Given the description of an element on the screen output the (x, y) to click on. 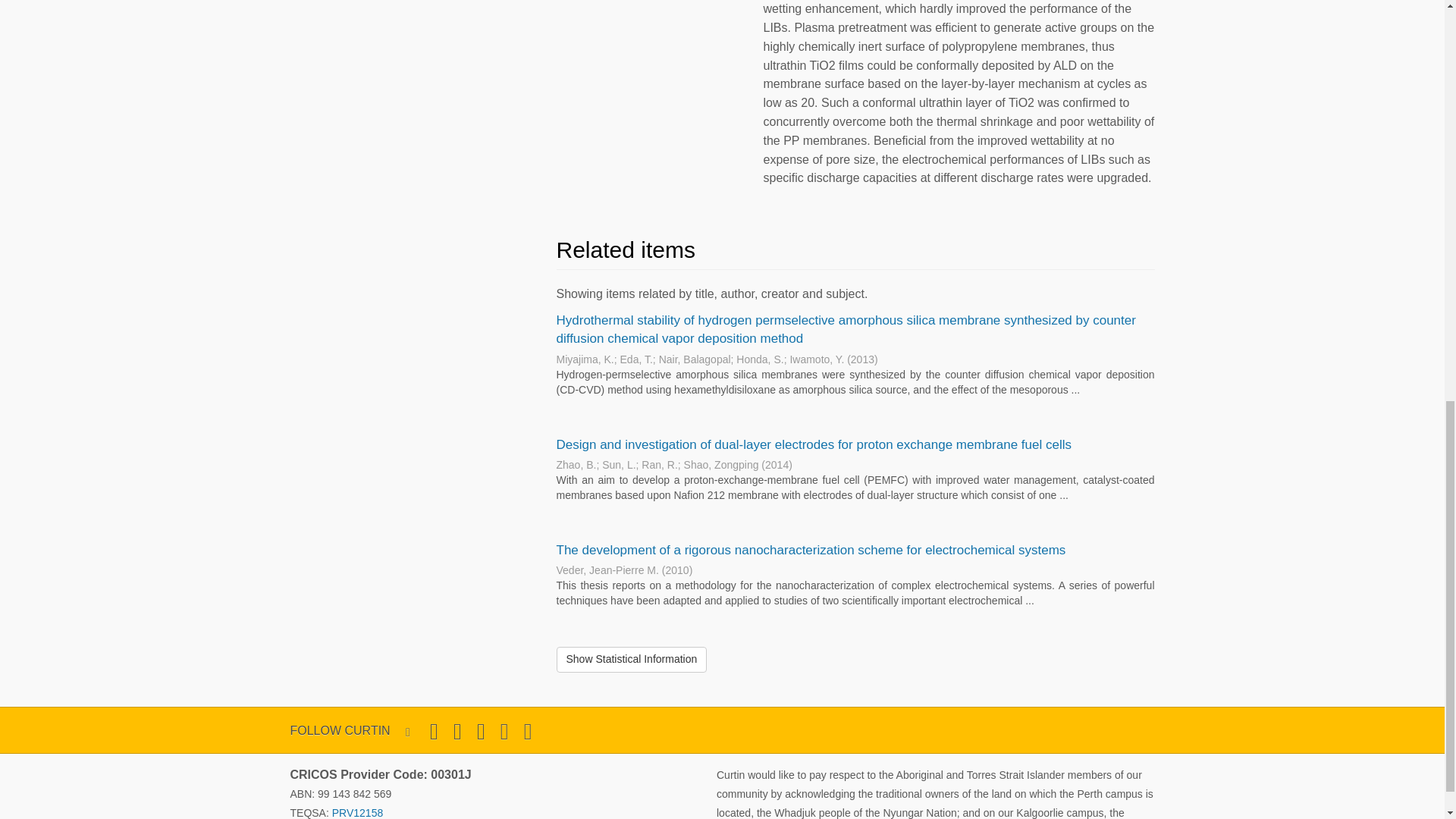
Show Statistical Information (631, 659)
